Given the description of an element on the screen output the (x, y) to click on. 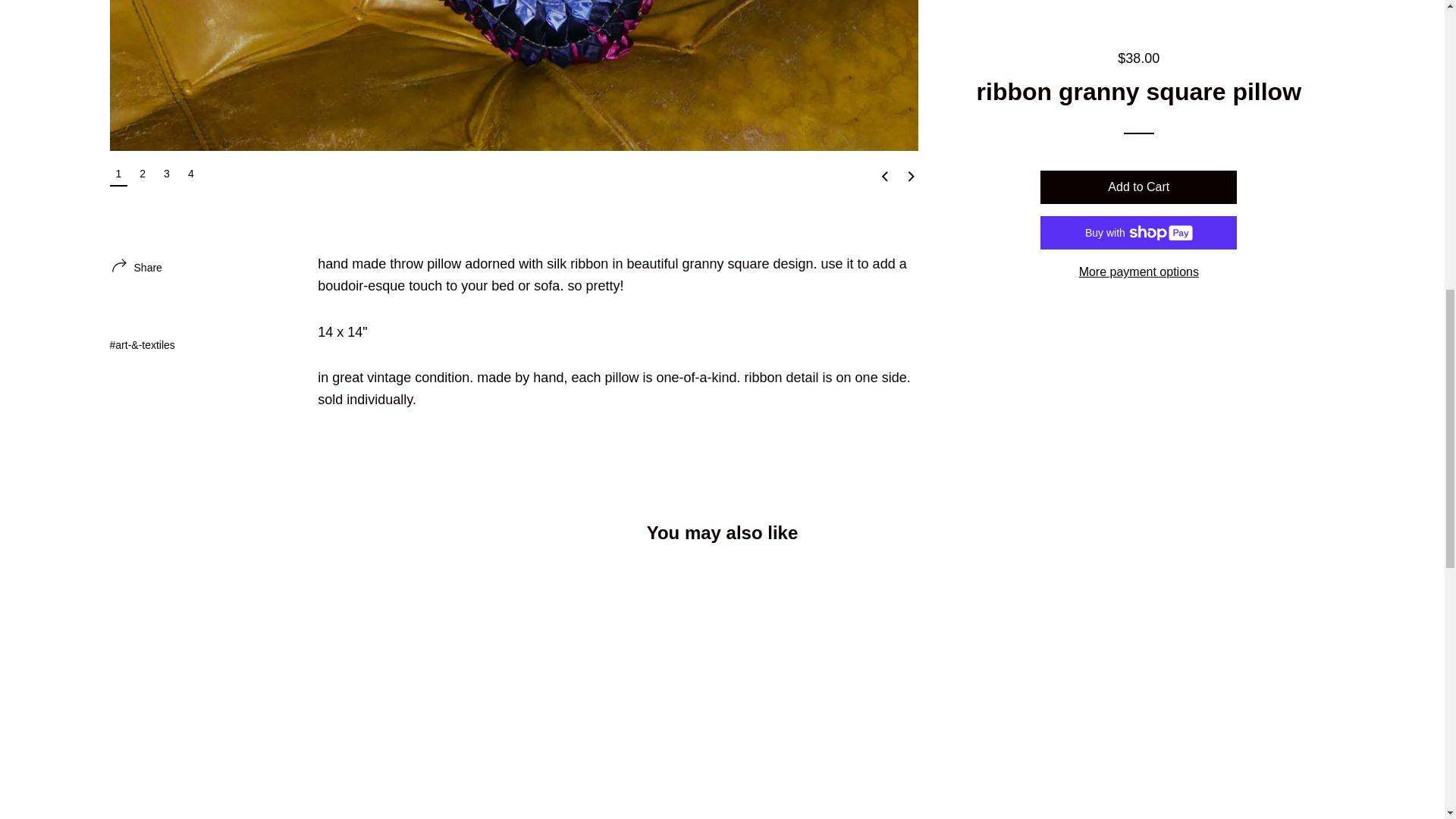
2 (142, 173)
3 (166, 173)
1 (118, 174)
4 (191, 173)
